Given the description of an element on the screen output the (x, y) to click on. 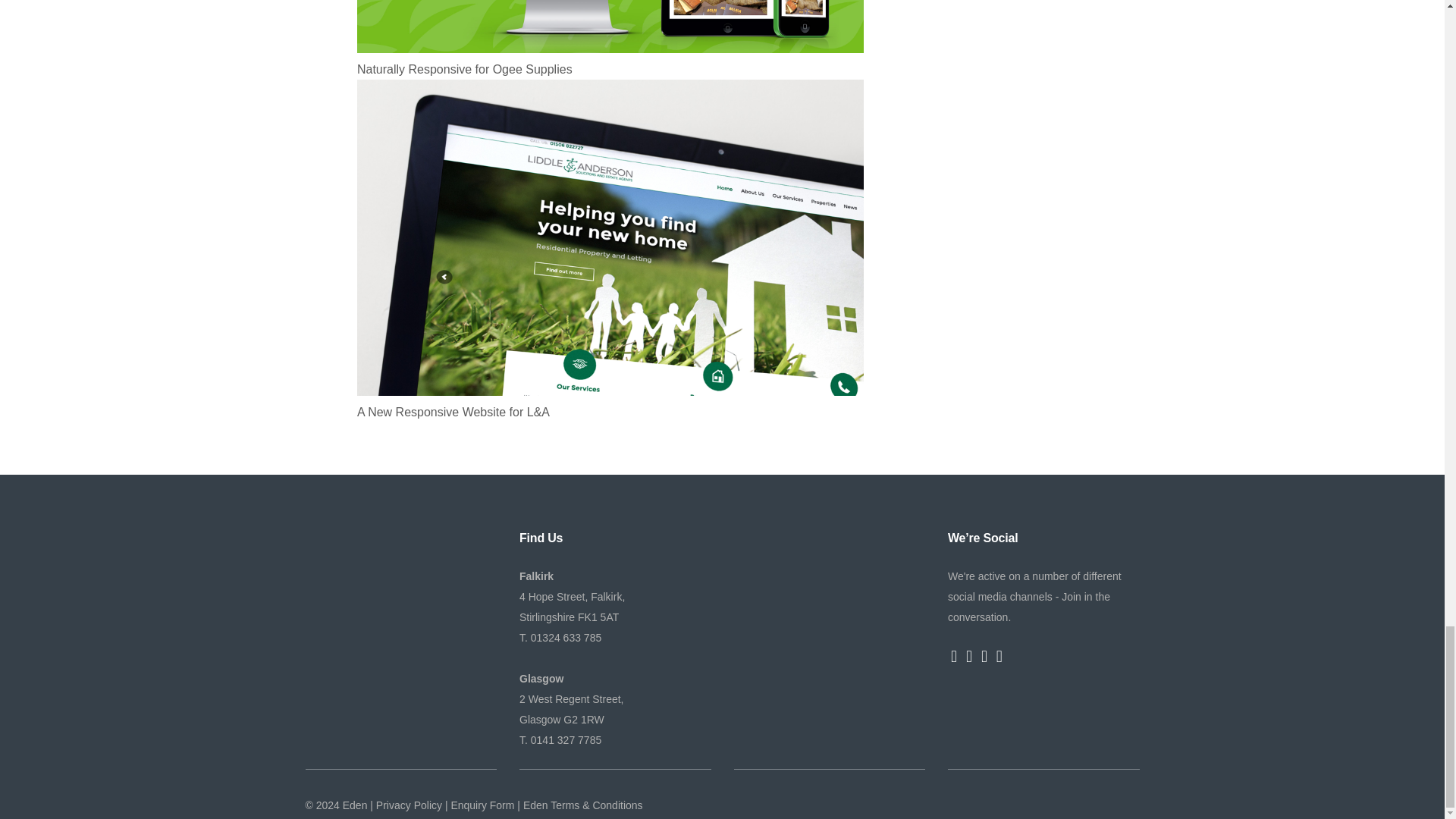
Naturally Responsive for Ogee Supplies (609, 68)
Naturally Responsive for Ogee Supplies (609, 68)
